Given the description of an element on the screen output the (x, y) to click on. 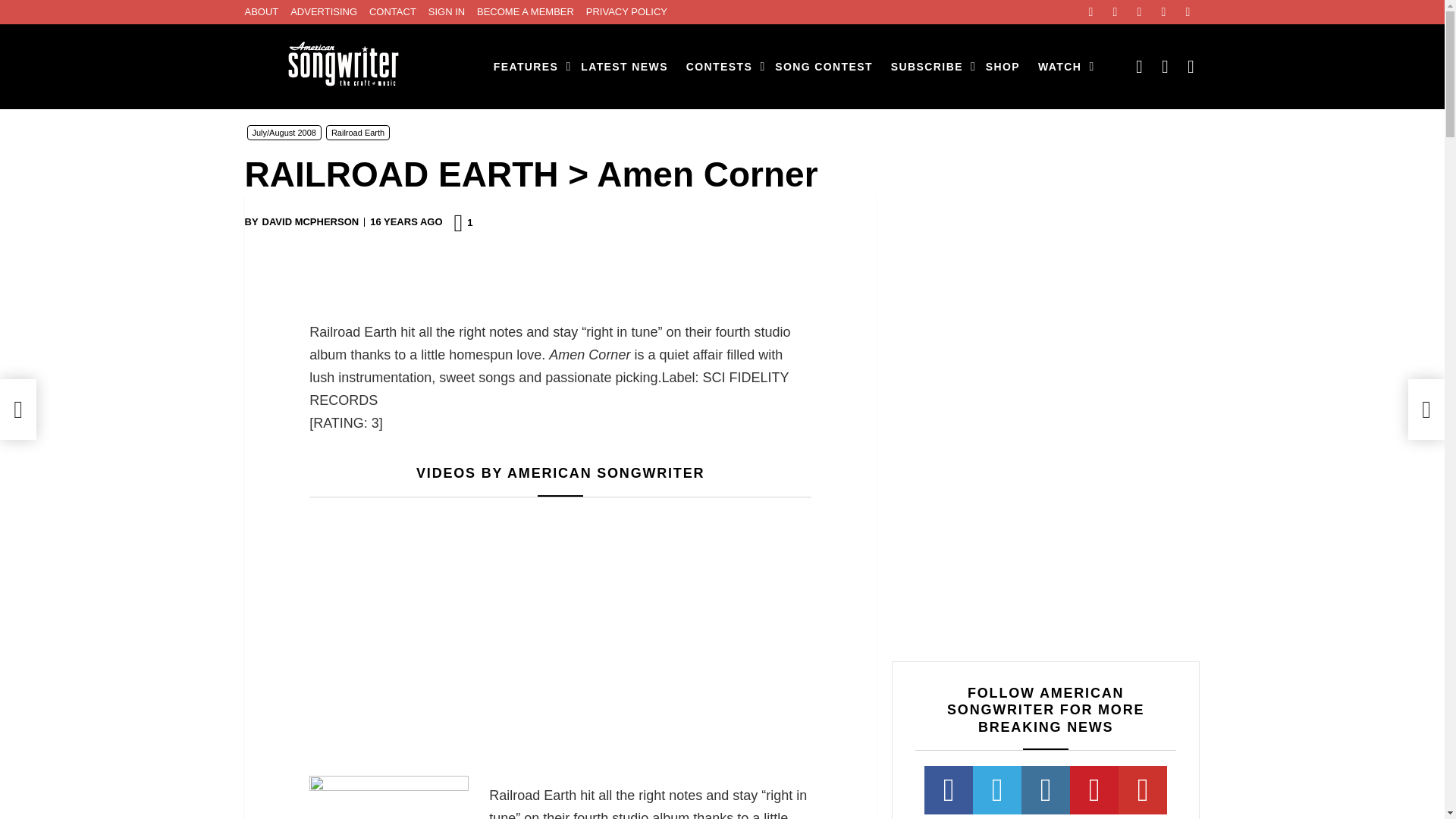
SIGN IN (446, 12)
CONTESTS (721, 66)
BECOME A MEMBER (525, 12)
LATEST NEWS (624, 66)
FEATURES (528, 66)
ADVERTISING (322, 12)
Twitter (1114, 11)
Facebook (1090, 11)
ABOUT (261, 12)
instagram (1138, 11)
PRIVACY POLICY (626, 12)
Posts by David McPherson (310, 222)
rre-2008-main-cred-c-taylor-crothers (388, 796)
pinterest (1162, 11)
youtube (1186, 11)
